Given the description of an element on the screen output the (x, y) to click on. 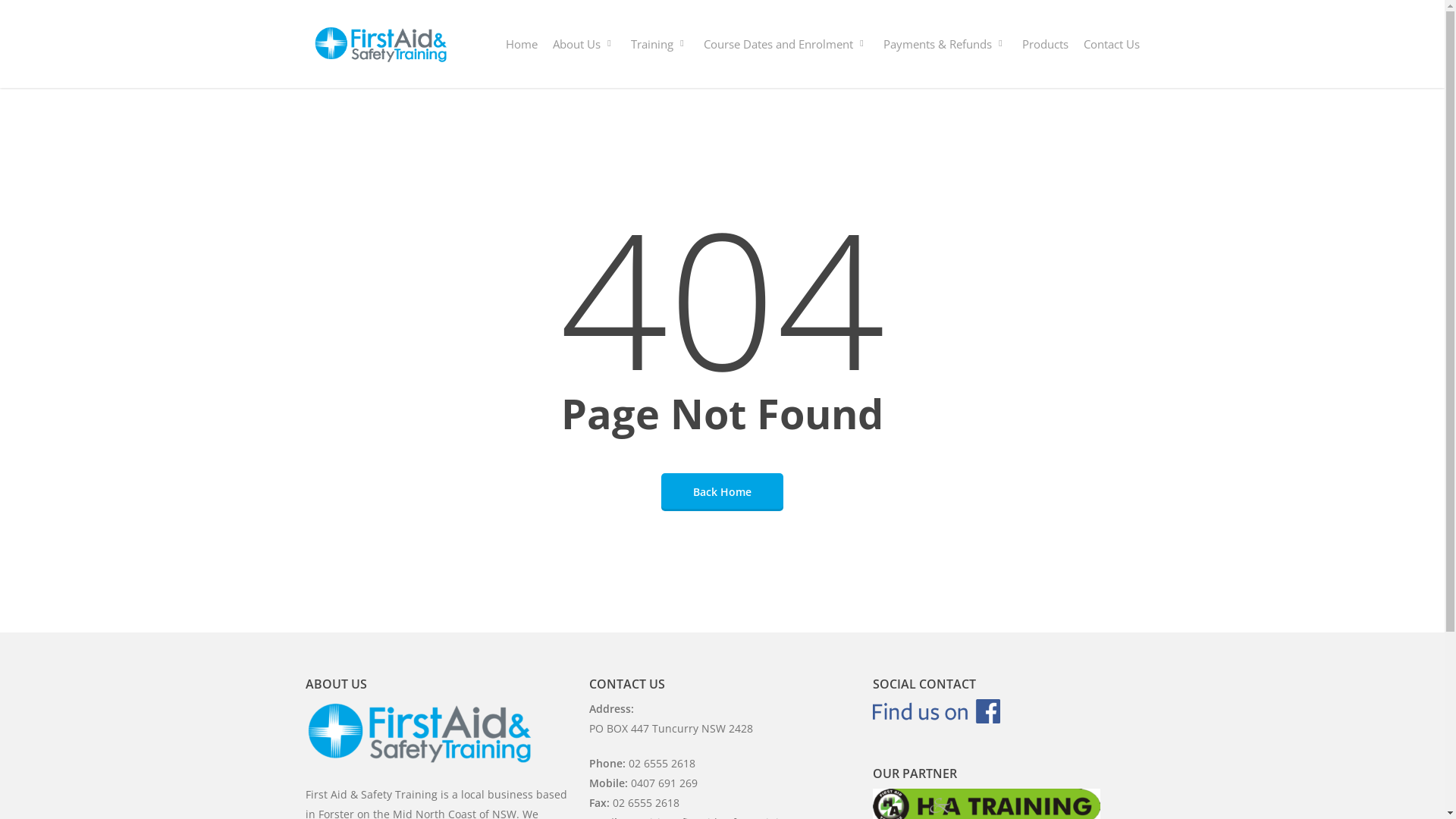
Contact Us Element type: text (1110, 43)
Training Element type: text (659, 43)
Products Element type: text (1045, 43)
Back Home Element type: text (722, 492)
Home Element type: text (520, 43)
Payments & Refunds Element type: text (944, 43)
Course Dates and Enrolment Element type: text (785, 43)
About Us Element type: text (583, 43)
